Given the description of an element on the screen output the (x, y) to click on. 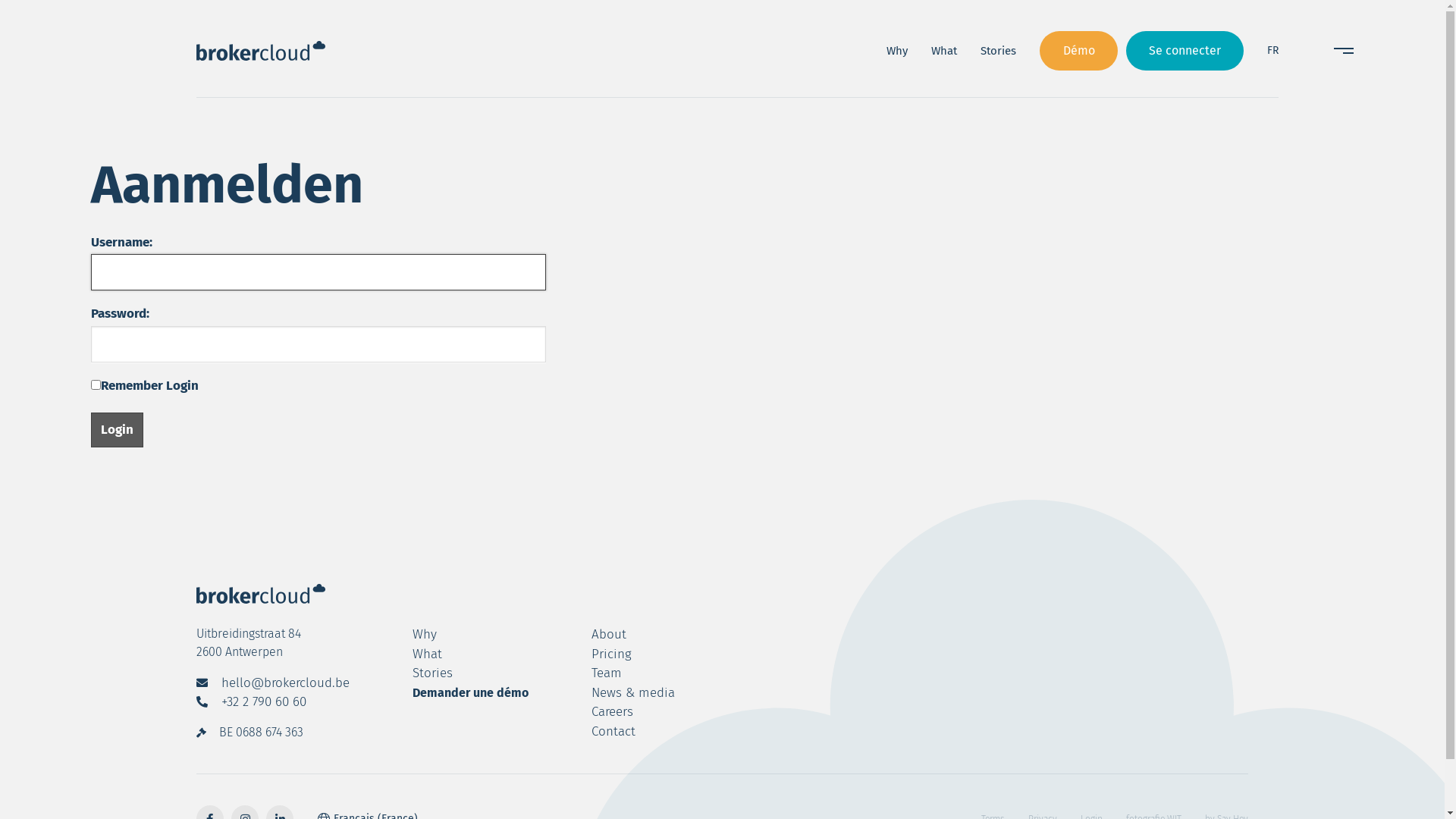
stories Element type: text (537, 366)
contact Element type: text (635, 422)
about Element type: text (608, 634)
Se connecter Element type: text (1185, 50)
pricing Element type: text (611, 654)
team Element type: text (606, 673)
contact Element type: text (613, 731)
what Element type: text (944, 50)
 hello@brokercloud.be Element type: text (272, 683)
news & media Element type: text (453, 422)
why Element type: text (424, 634)
team Element type: text (358, 422)
news & media Element type: text (632, 692)
careers Element type: text (556, 422)
FR Element type: text (1272, 50)
stories Element type: text (998, 50)
what Element type: text (427, 654)
careers Element type: text (612, 711)
Login Element type: text (117, 429)
about Element type: text (216, 422)
 +32 2 790 60 60 Element type: text (251, 702)
what Element type: text (373, 366)
pricing Element type: text (288, 422)
why Element type: text (236, 366)
why Element type: text (896, 50)
stories Element type: text (432, 673)
Open menu Element type: hover (1343, 50)
